Given the description of an element on the screen output the (x, y) to click on. 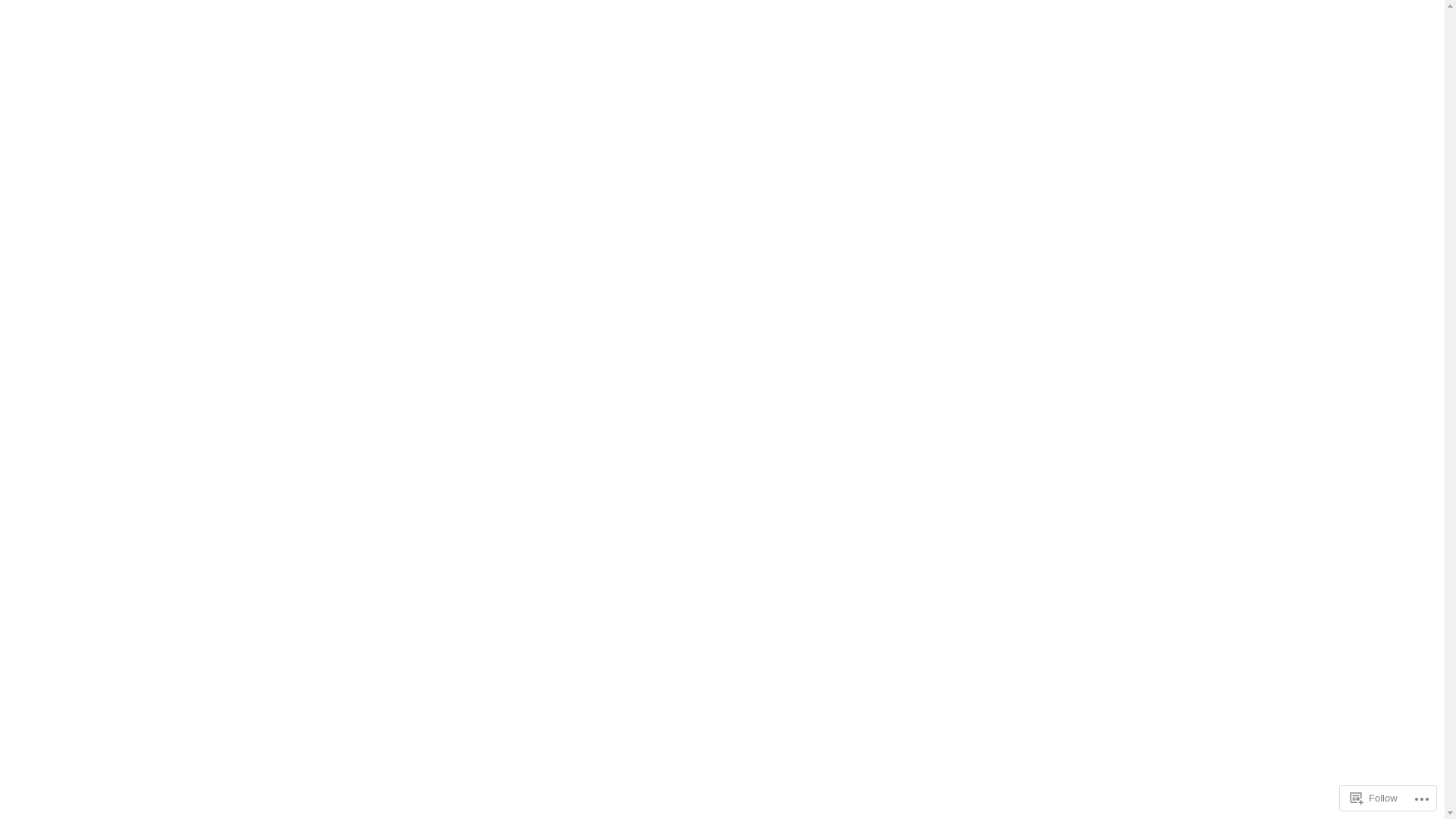
Follow Element type: text (1373, 797)
